Given the description of an element on the screen output the (x, y) to click on. 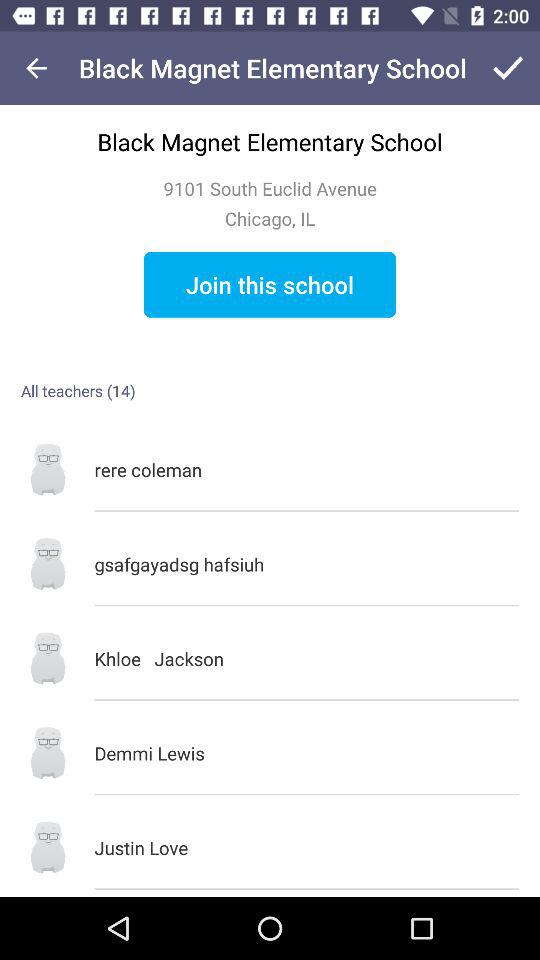
click the icon to the left of the black magnet elementary (36, 68)
